Given the description of an element on the screen output the (x, y) to click on. 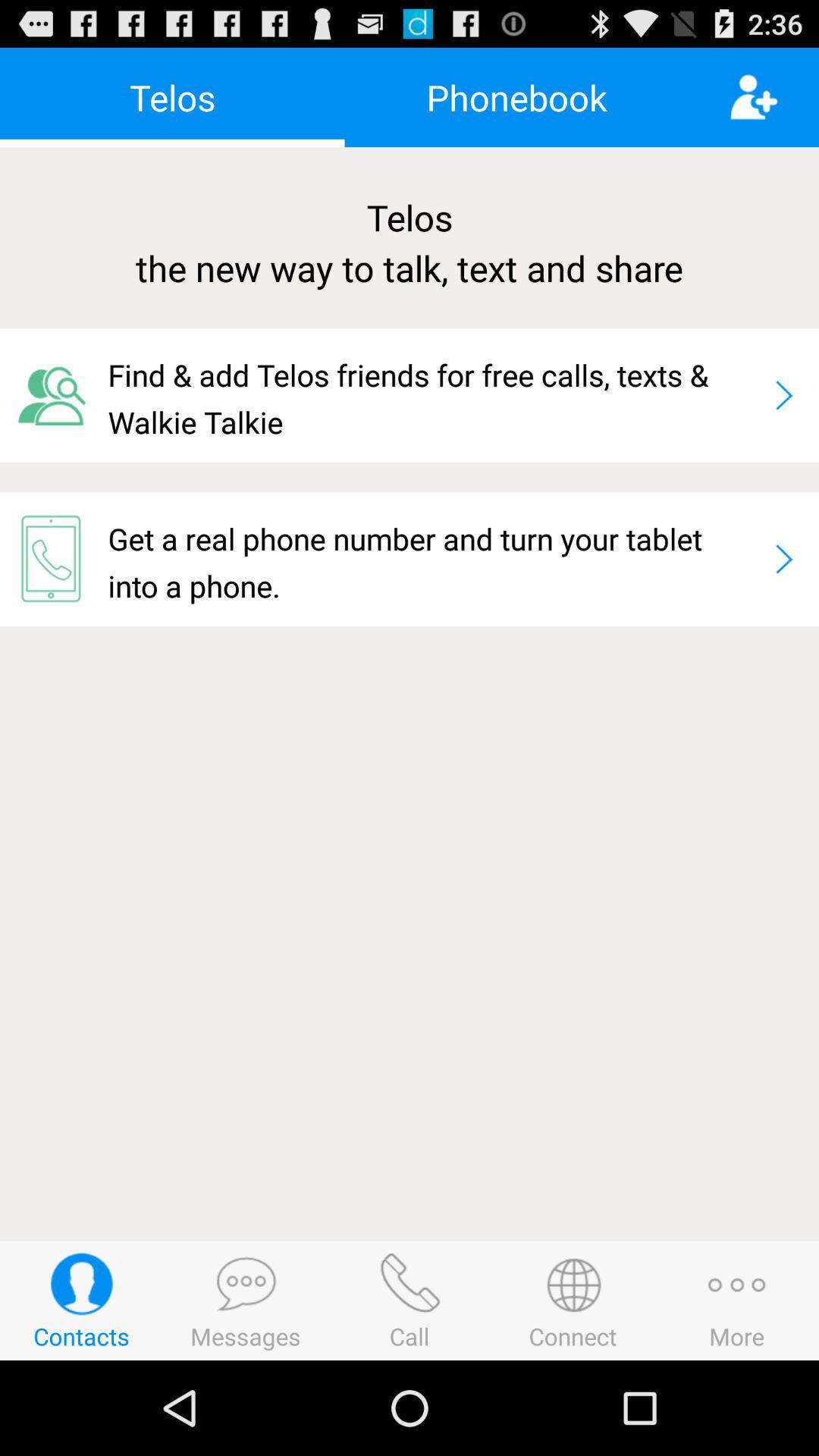
launch the item below telos the new (433, 395)
